Given the description of an element on the screen output the (x, y) to click on. 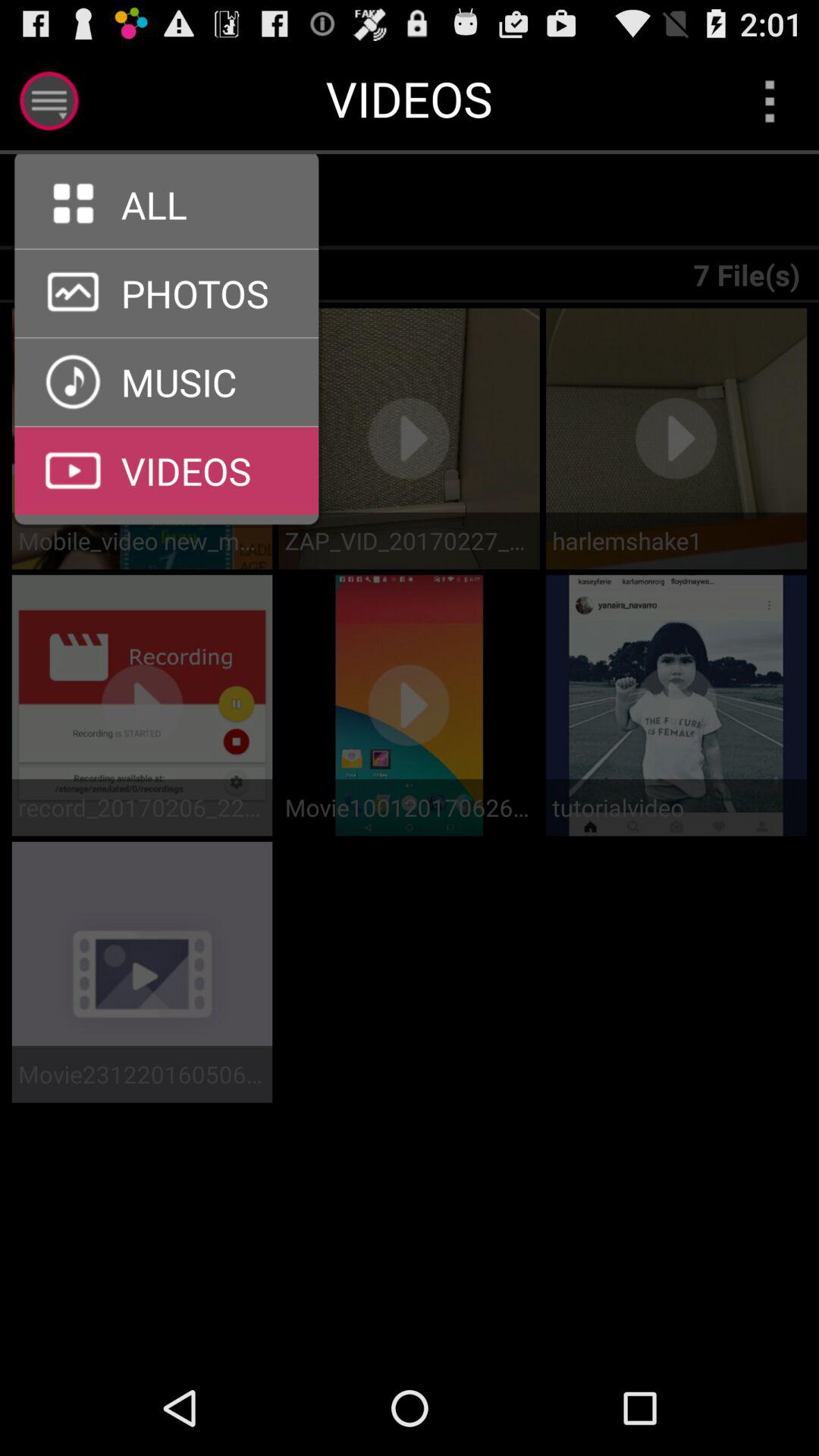
tap to view videos (166, 426)
